Given the description of an element on the screen output the (x, y) to click on. 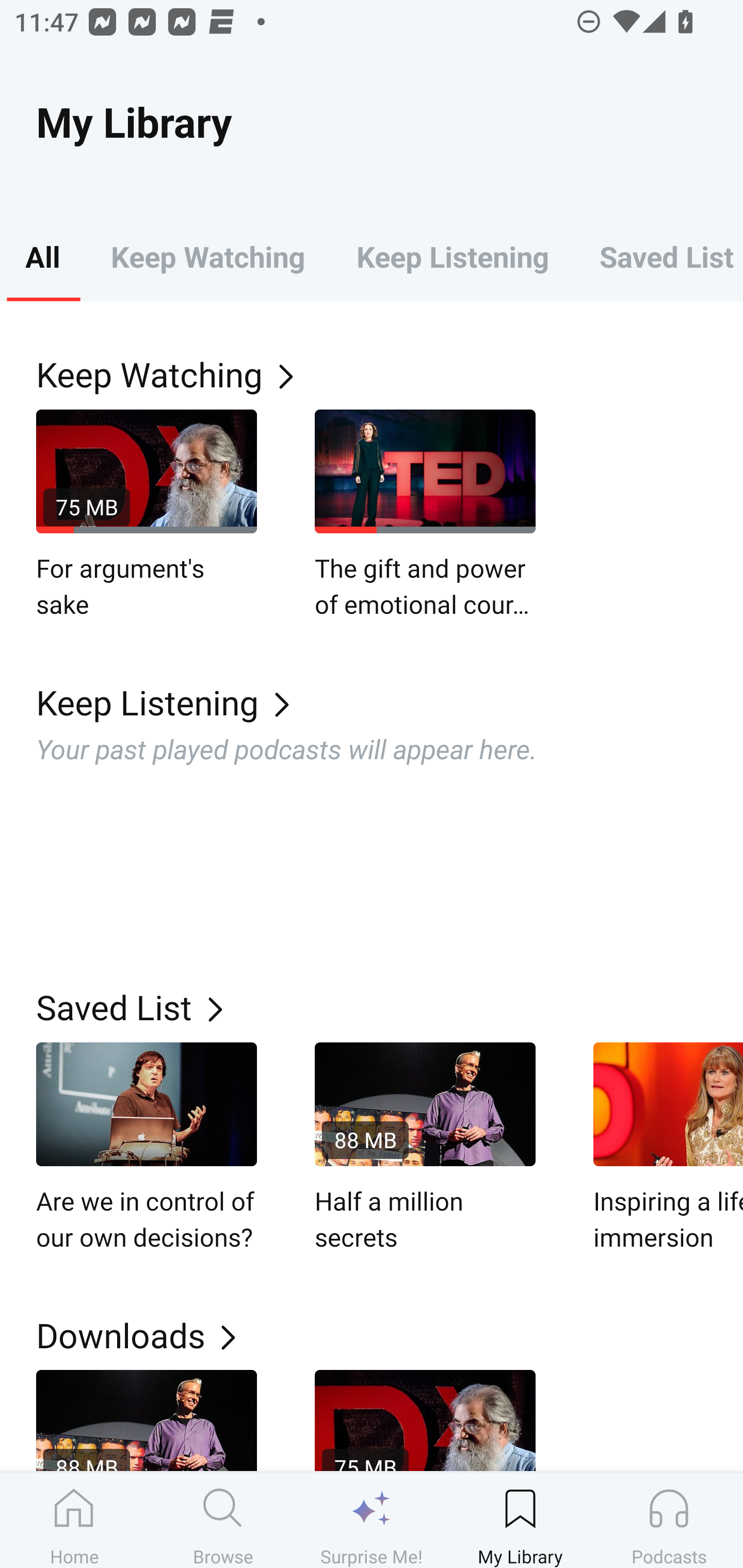
All (42, 256)
Keep Watching (207, 256)
Keep Listening (452, 256)
Saved List (658, 256)
Keep Watching (389, 373)
75 MB For argument's sake (146, 514)
The gift and power of emotional courage (425, 514)
Keep Listening (389, 702)
Saved List (389, 1007)
Are we in control of our own decisions? (146, 1148)
88 MB Half a million secrets (425, 1148)
Inspiring a life of immersion (668, 1148)
Downloads (389, 1334)
88 MB (146, 1420)
75 MB (425, 1420)
Home (74, 1520)
Browse (222, 1520)
Surprise Me! (371, 1520)
My Library (519, 1520)
Podcasts (668, 1520)
